Given the description of an element on the screen output the (x, y) to click on. 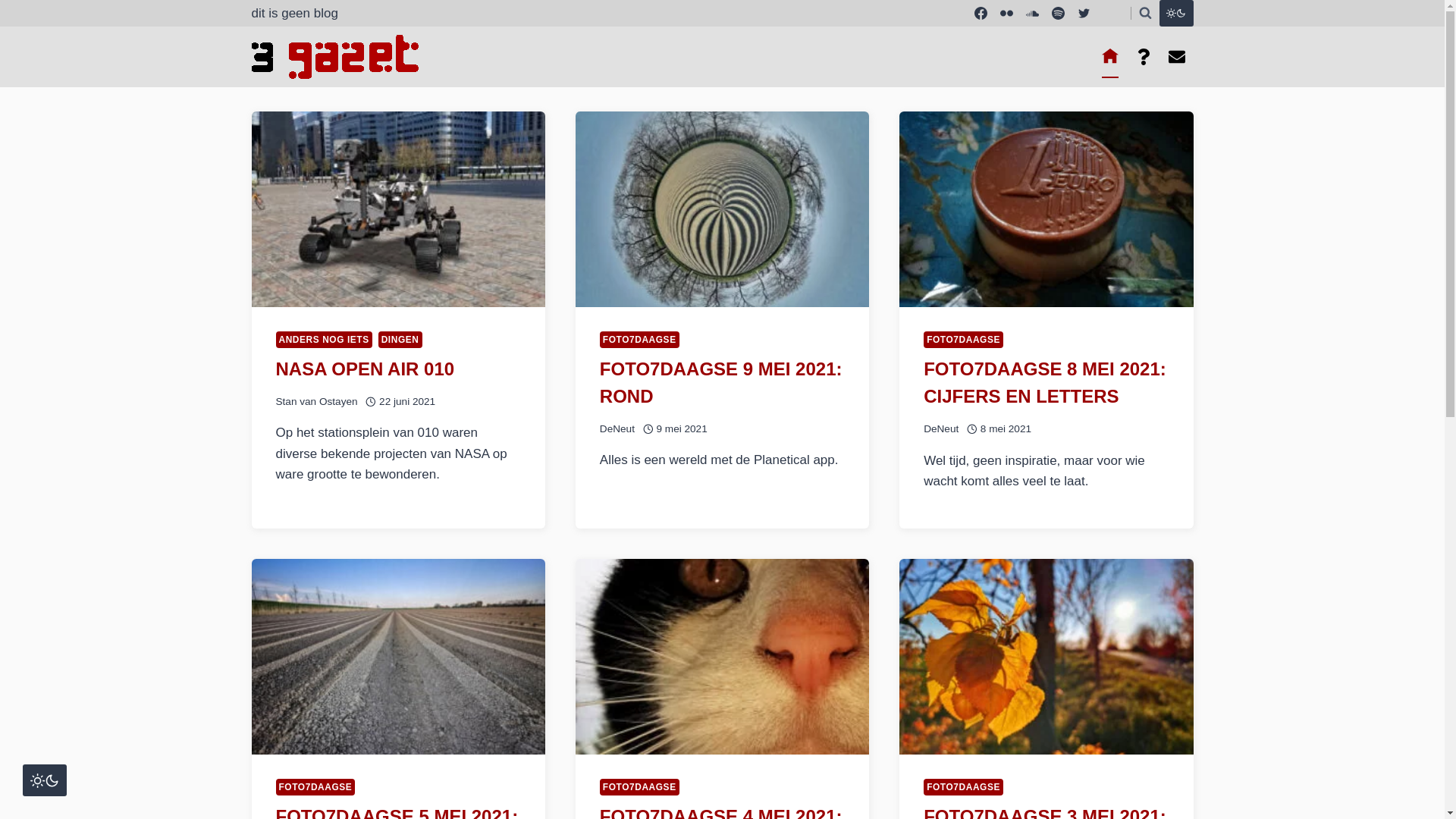
FOTO7DAAGSE Element type: text (315, 786)
FOTO7DAAGSE Element type: text (639, 786)
FOTO7DAAGSE Element type: text (963, 786)
over 3 GAZET Element type: hover (1143, 57)
FOTO7DAAGSE Element type: text (639, 339)
DeNeut Element type: text (616, 428)
DINGEN Element type: text (400, 339)
ANDERS NOG IETS Element type: text (324, 339)
FOTO7DAAGSE 9 MEI 2021: ROND Element type: text (720, 382)
DeNeut Element type: text (940, 428)
FOTO7DAAGSE 8 MEI 2021: CIJFERS EN LETTERS Element type: text (1044, 382)
Oost, west? Home best! Element type: hover (1109, 57)
FOTO7DAAGSE Element type: text (963, 339)
NASA OPEN AIR 010 Element type: text (365, 368)
Stan van Ostayen Element type: text (316, 401)
